Given the description of an element on the screen output the (x, y) to click on. 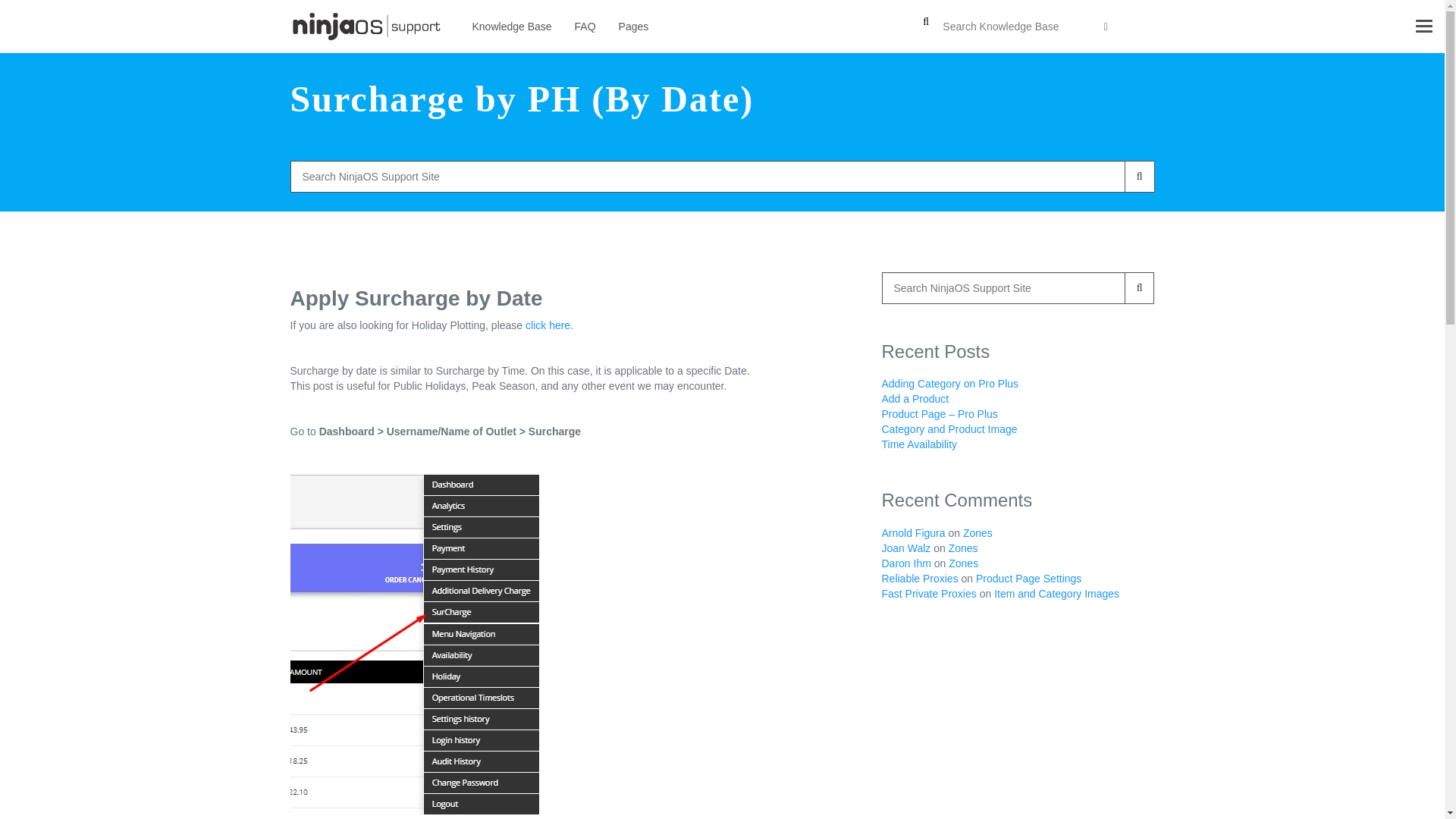
Arnold Figura (912, 532)
Knowledge Base (512, 26)
Adding Category on Pro Plus (948, 383)
Pages (634, 26)
Pages (634, 26)
Add a Product (914, 398)
Time Availability (918, 444)
Daron Ihm (905, 563)
Zones (963, 548)
Toggle navigation (1424, 26)
Category and Product Image (948, 428)
click here. (549, 325)
Knowledge Base (512, 26)
Zones (977, 532)
Joan Walz (905, 548)
